Given the description of an element on the screen output the (x, y) to click on. 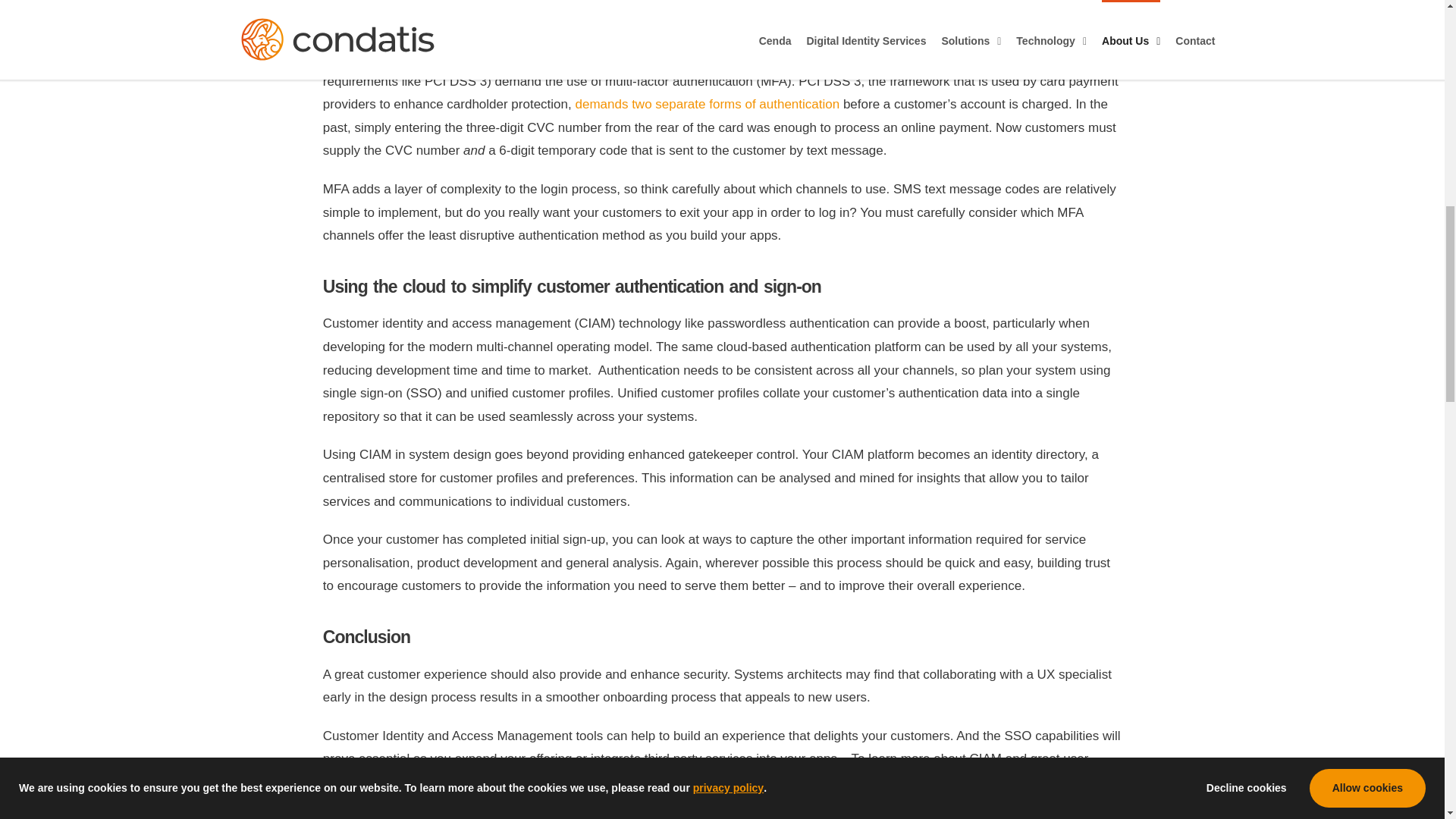
demands two separate forms of authentication (707, 104)
